Given the description of an element on the screen output the (x, y) to click on. 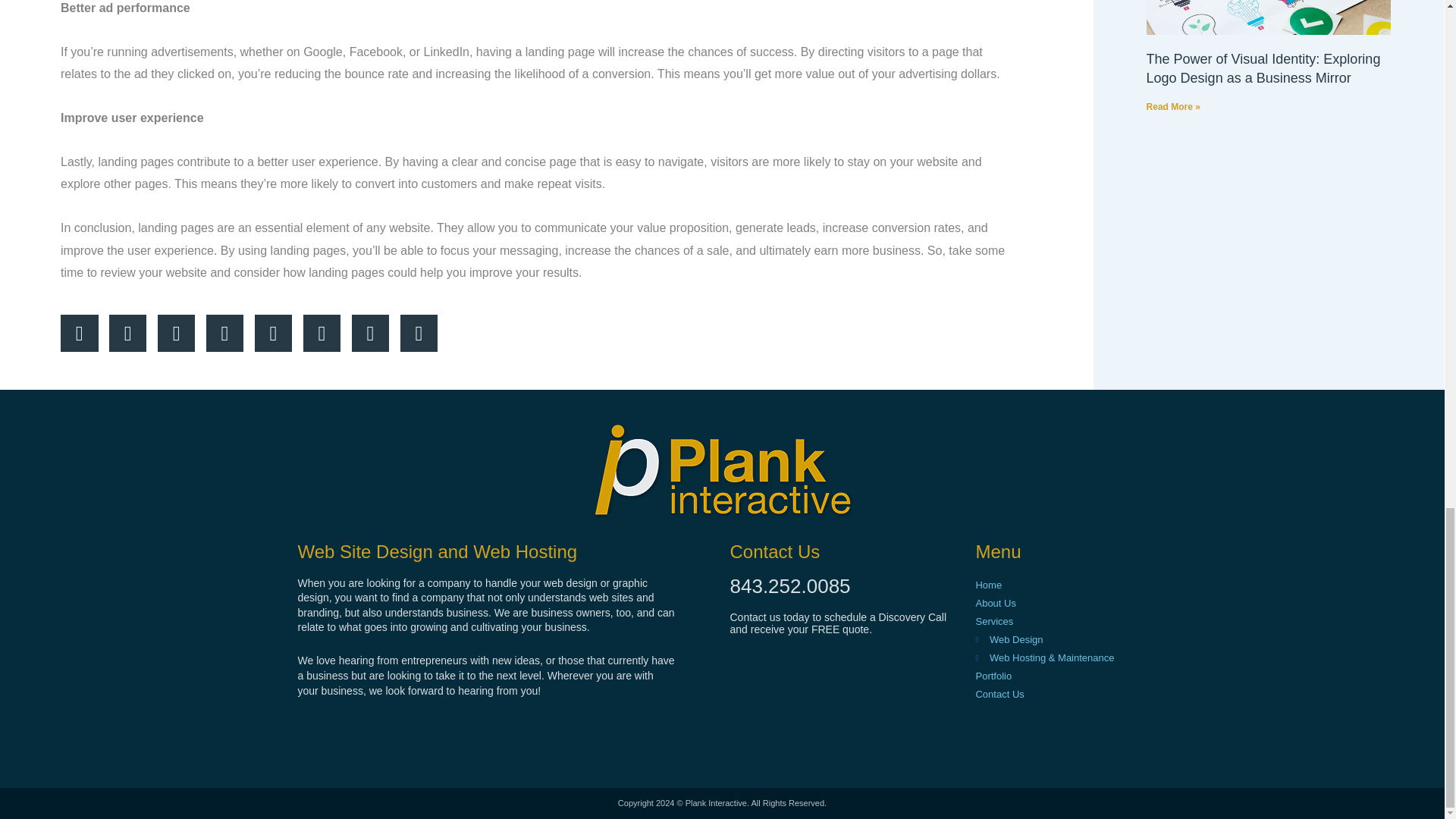
Share on reddit (273, 332)
Share on email (370, 332)
Share on linkedin (176, 332)
Share on whatsapp (419, 332)
Share on twitter (127, 332)
Share on telegram (322, 332)
Share on facebook (78, 332)
Share on pinterest (224, 332)
